Given the description of an element on the screen output the (x, y) to click on. 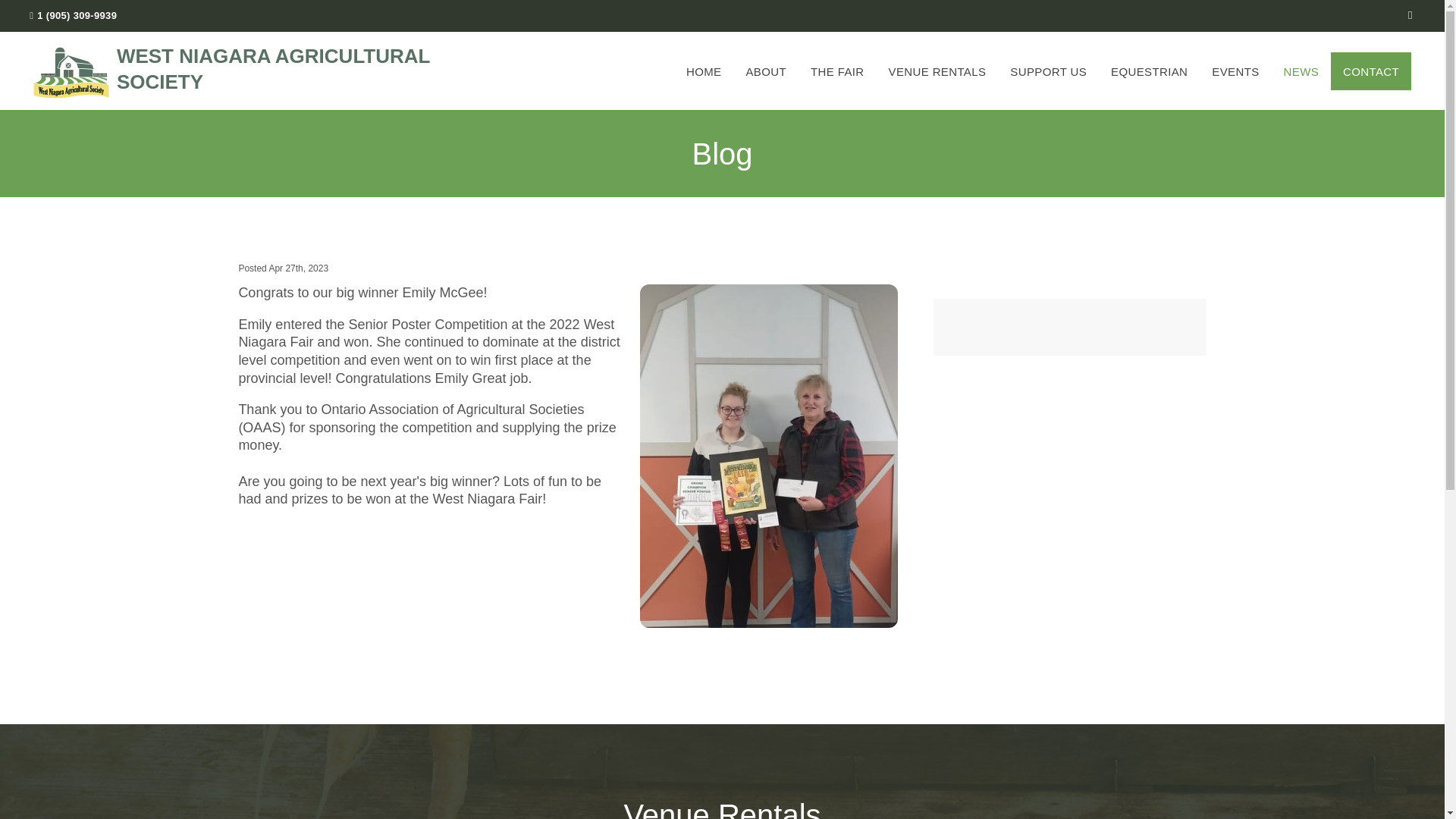
WEST NIAGARA AGRICULTURAL SOCIETY (254, 70)
ABOUT (765, 71)
HOME (703, 71)
